Given the description of an element on the screen output the (x, y) to click on. 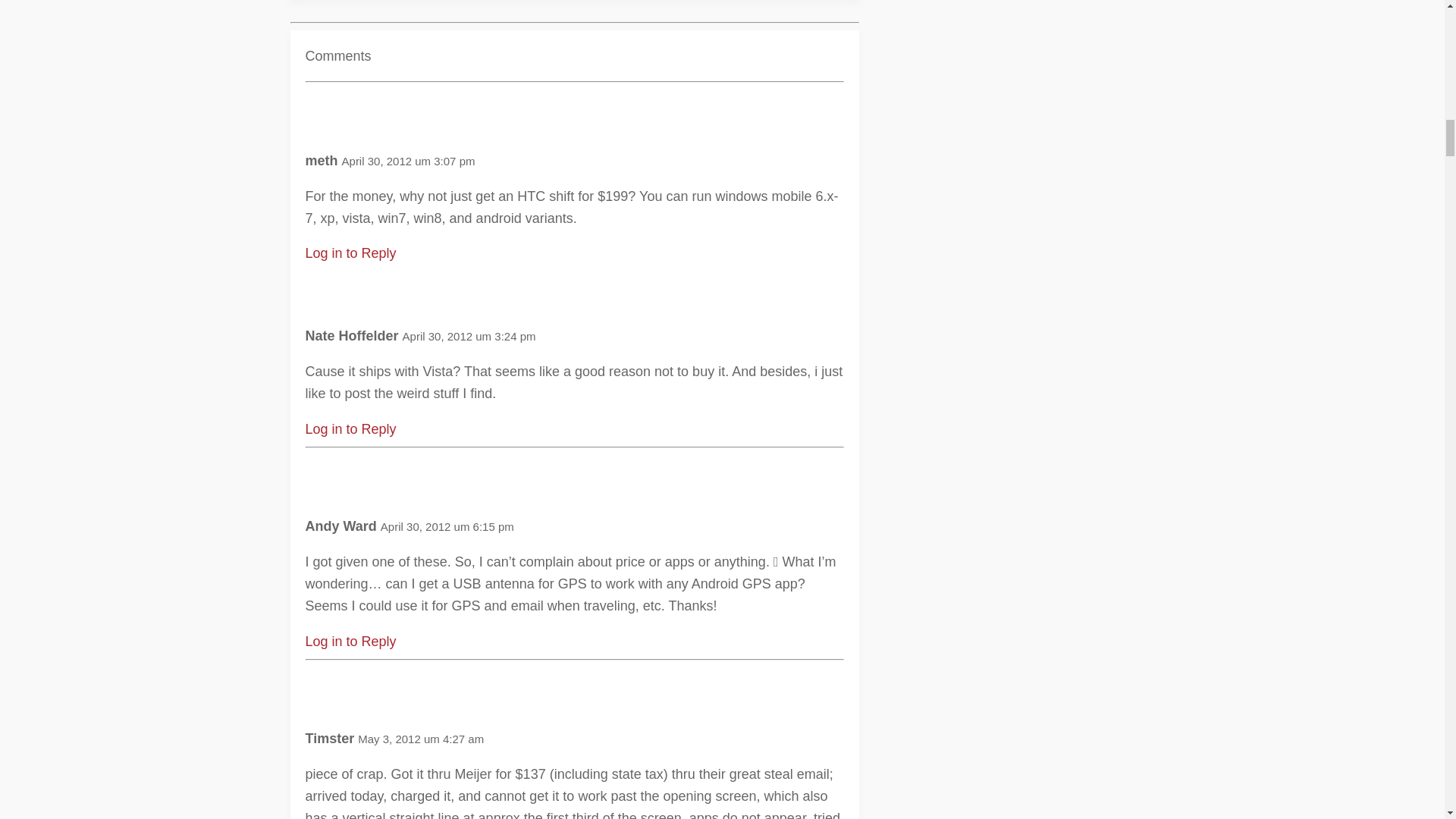
Log in to Reply (350, 253)
Log in to Reply (350, 641)
Log in to Reply (350, 428)
